Given the description of an element on the screen output the (x, y) to click on. 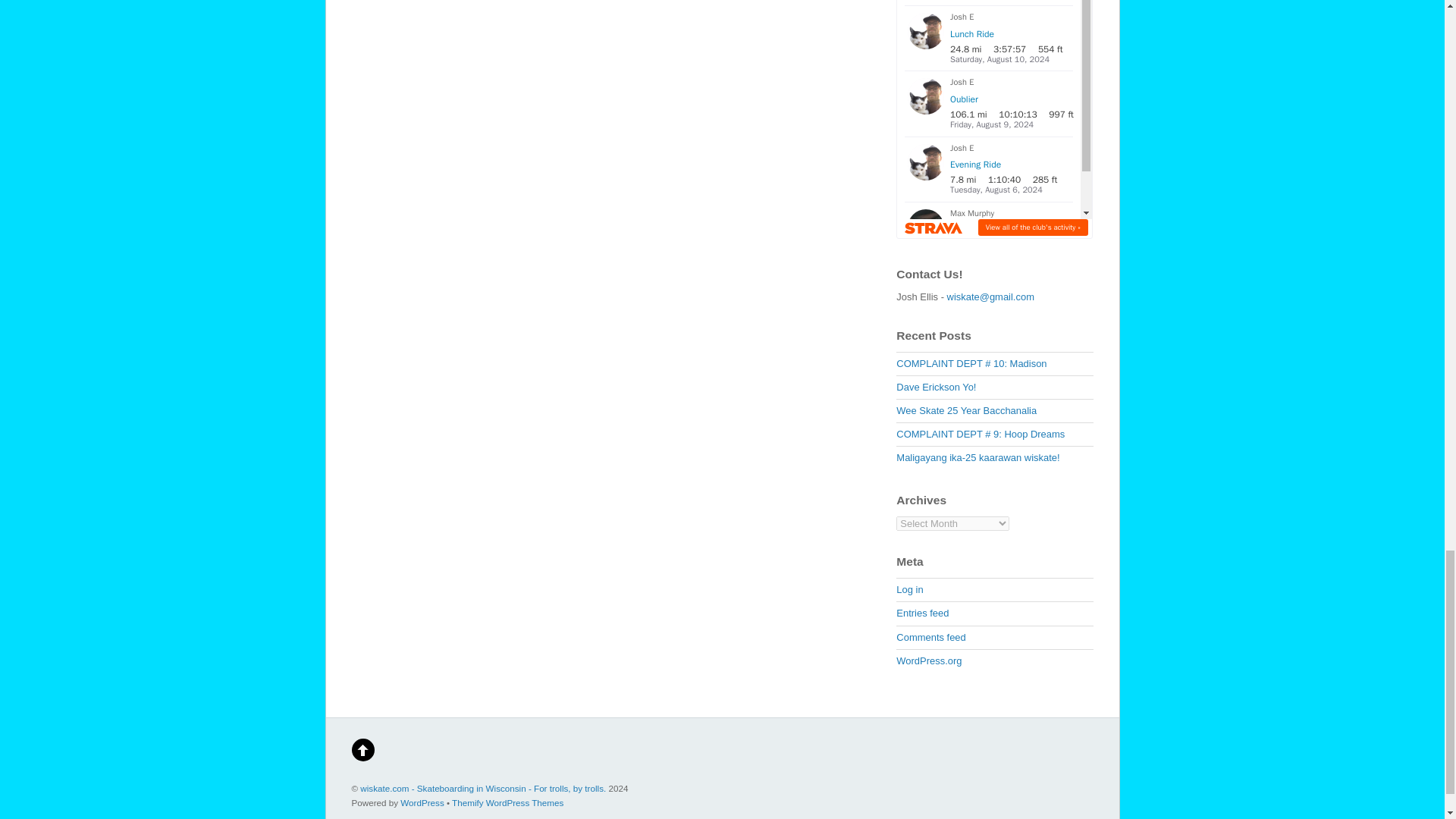
Themify WordPress Themes (507, 802)
Comments feed (930, 636)
Wee Skate 25 Year Bacchanalia (966, 410)
Dave Erickson Yo! (935, 387)
WordPress (422, 802)
Log in (909, 589)
WordPress.org (928, 660)
Entries feed (922, 613)
Maligayang ika-25 kaarawan wiskate! (977, 457)
